Given the description of an element on the screen output the (x, y) to click on. 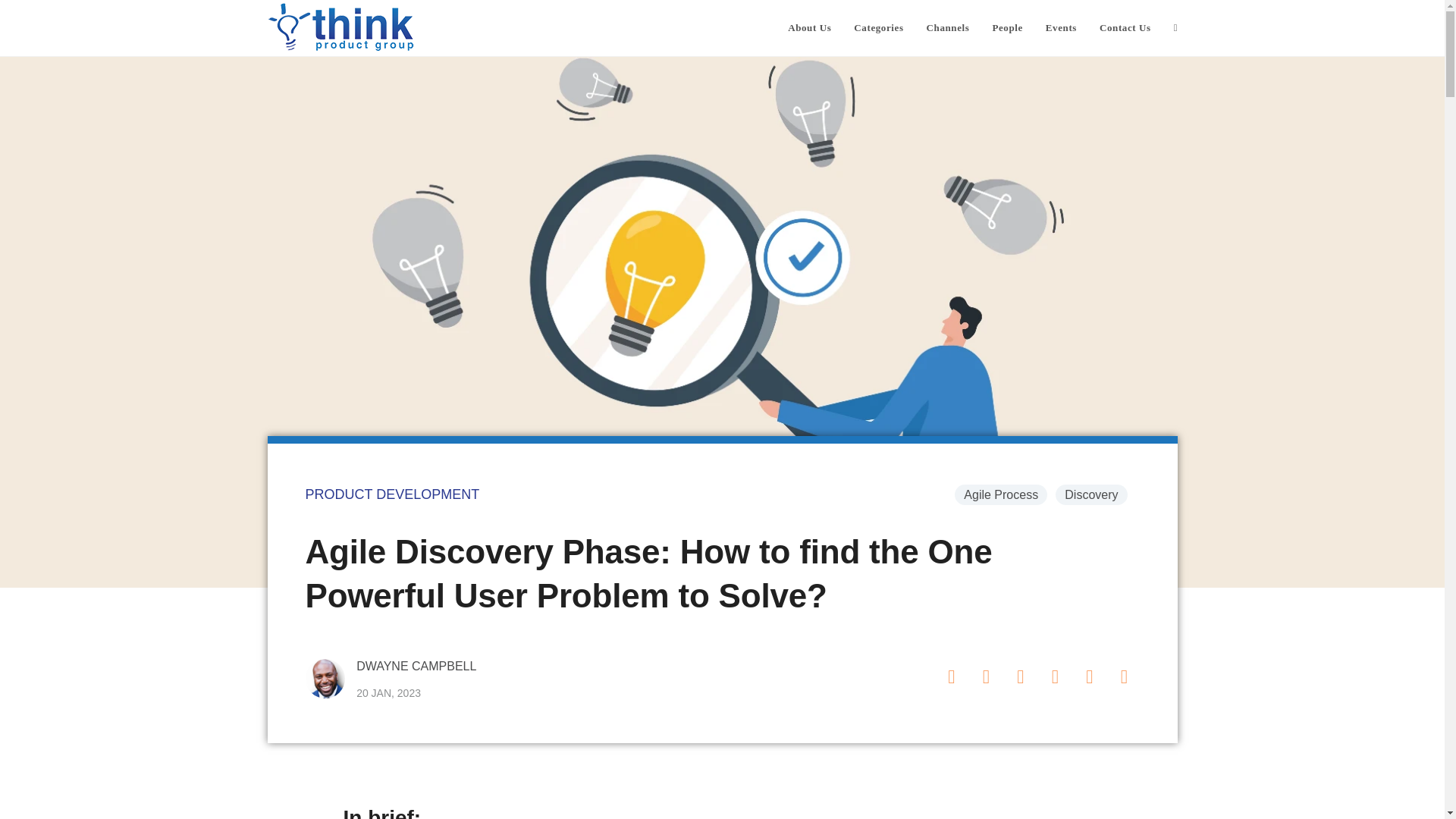
Agile Process (1000, 494)
Categories (878, 28)
PRODUCT DEVELOPMENT (391, 494)
About Us (809, 28)
People (1006, 28)
Channels (948, 28)
Discovery (1090, 494)
Contact Us (1124, 28)
Events (1060, 28)
